Given the description of an element on the screen output the (x, y) to click on. 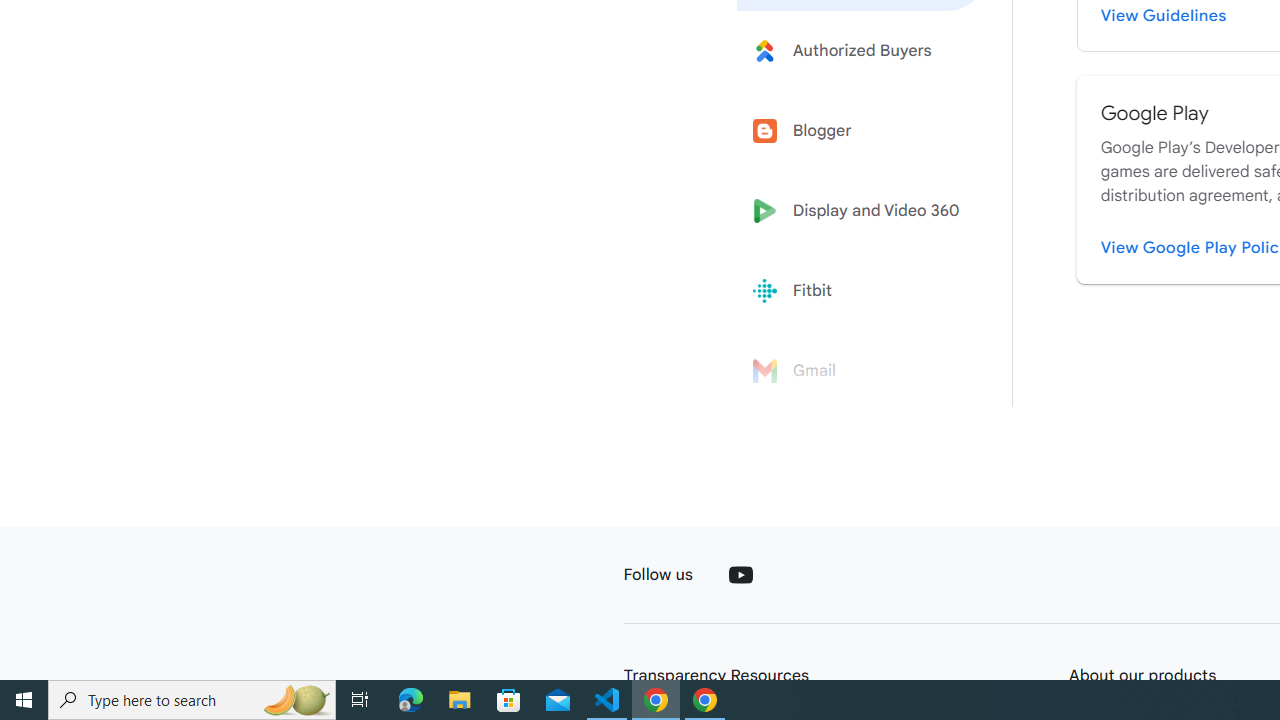
Gmail (862, 371)
Blogger (862, 130)
Blogger (862, 130)
Gmail (862, 371)
Fitbit (862, 291)
Learn more about Authorized Buyers (862, 50)
YouTube (740, 574)
Learn more about Authorized Buyers (862, 50)
Fitbit (862, 291)
Display and Video 360 (862, 211)
Display and Video 360 (862, 211)
